Given the description of an element on the screen output the (x, y) to click on. 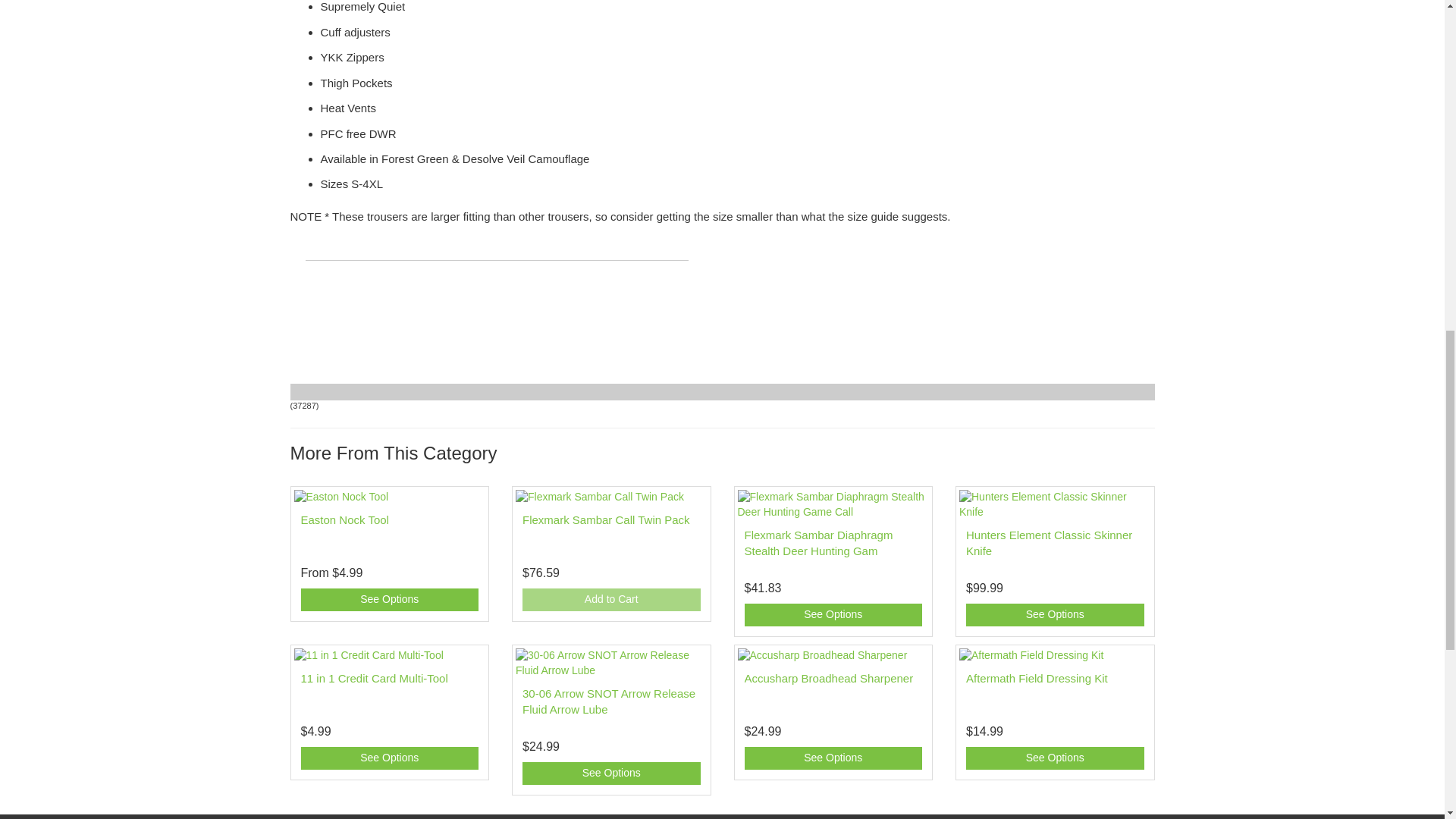
Hunters Element Classic Skinner Knife (1049, 542)
Buying Options (389, 599)
Buying Options (1055, 614)
Easton Nock Tool (343, 519)
11 in 1 Credit Card Multi-Tool (372, 677)
Add to Cart (611, 599)
30-06 Arrow SNOT Arrow Release Fluid Arrow Lube  (608, 701)
Buying Options (611, 773)
Buying Options (833, 614)
Flexmark Sambar Diaphragm Stealth Deer Hunting Game Call (818, 542)
